Given the description of an element on the screen output the (x, y) to click on. 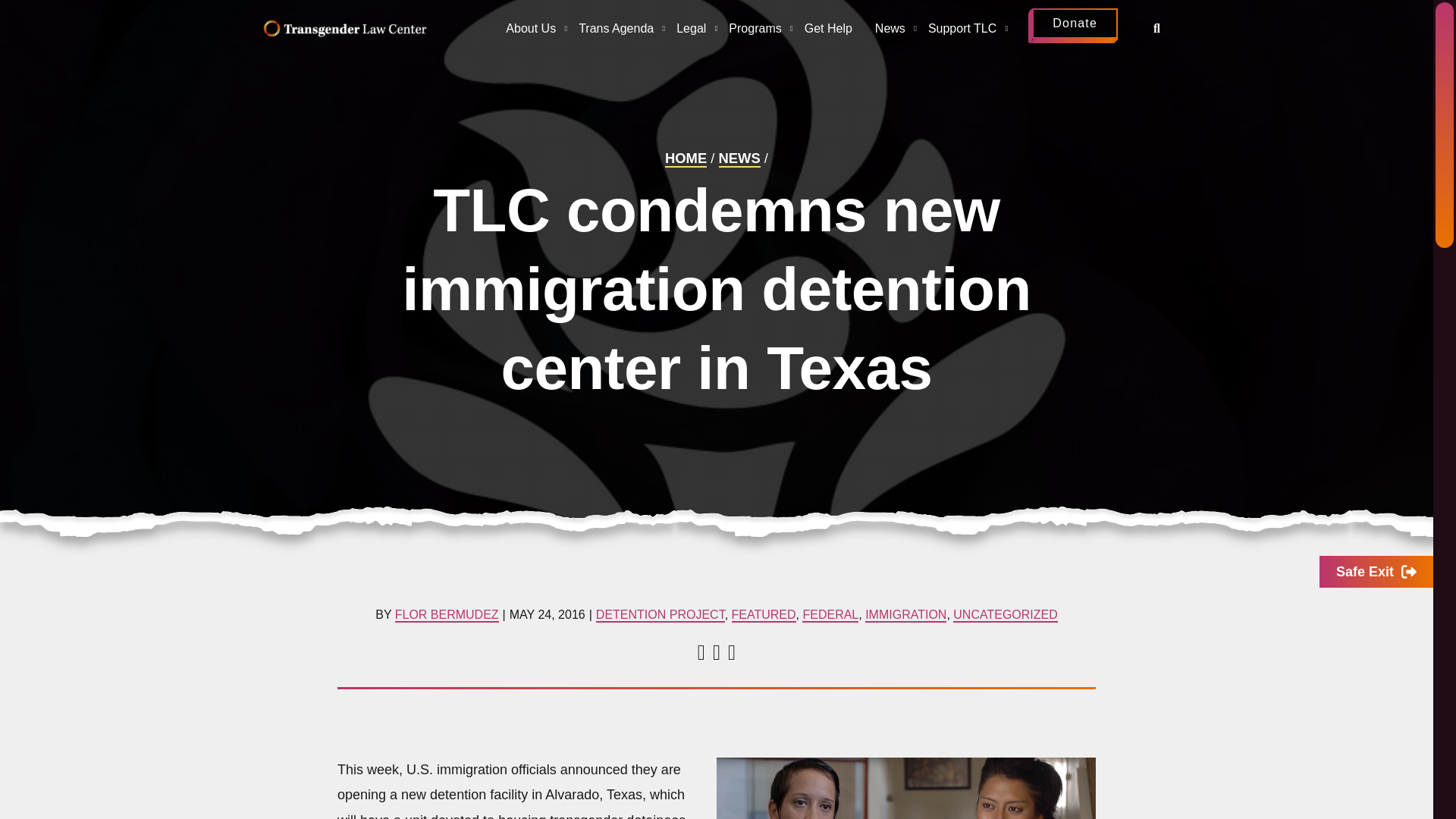
Trans Agenda (616, 31)
Programs (754, 31)
Support TLC (962, 31)
About Us (531, 31)
Get Help (828, 31)
